Given the description of an element on the screen output the (x, y) to click on. 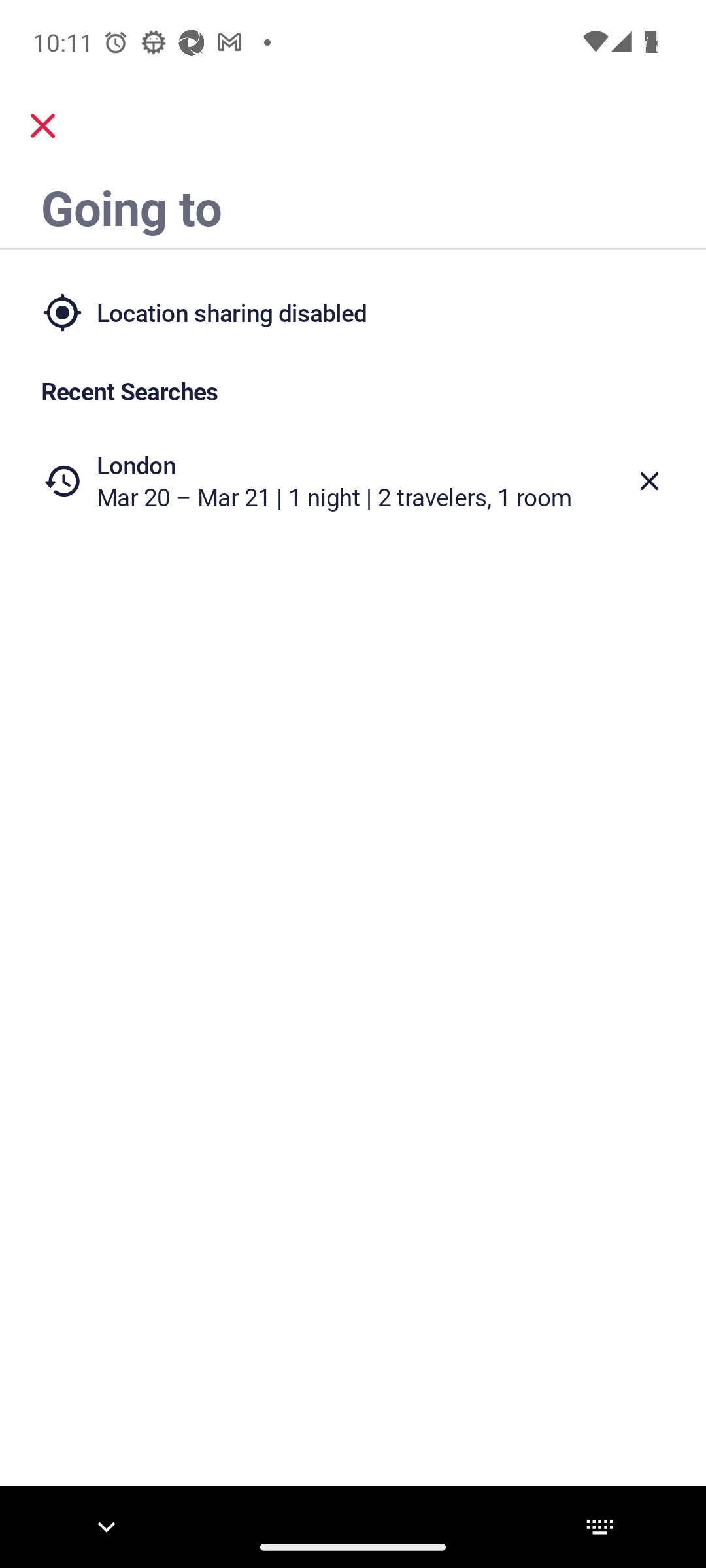
close. (43, 125)
Location sharing disabled (353, 312)
Delete from recent searches (649, 481)
